Given the description of an element on the screen output the (x, y) to click on. 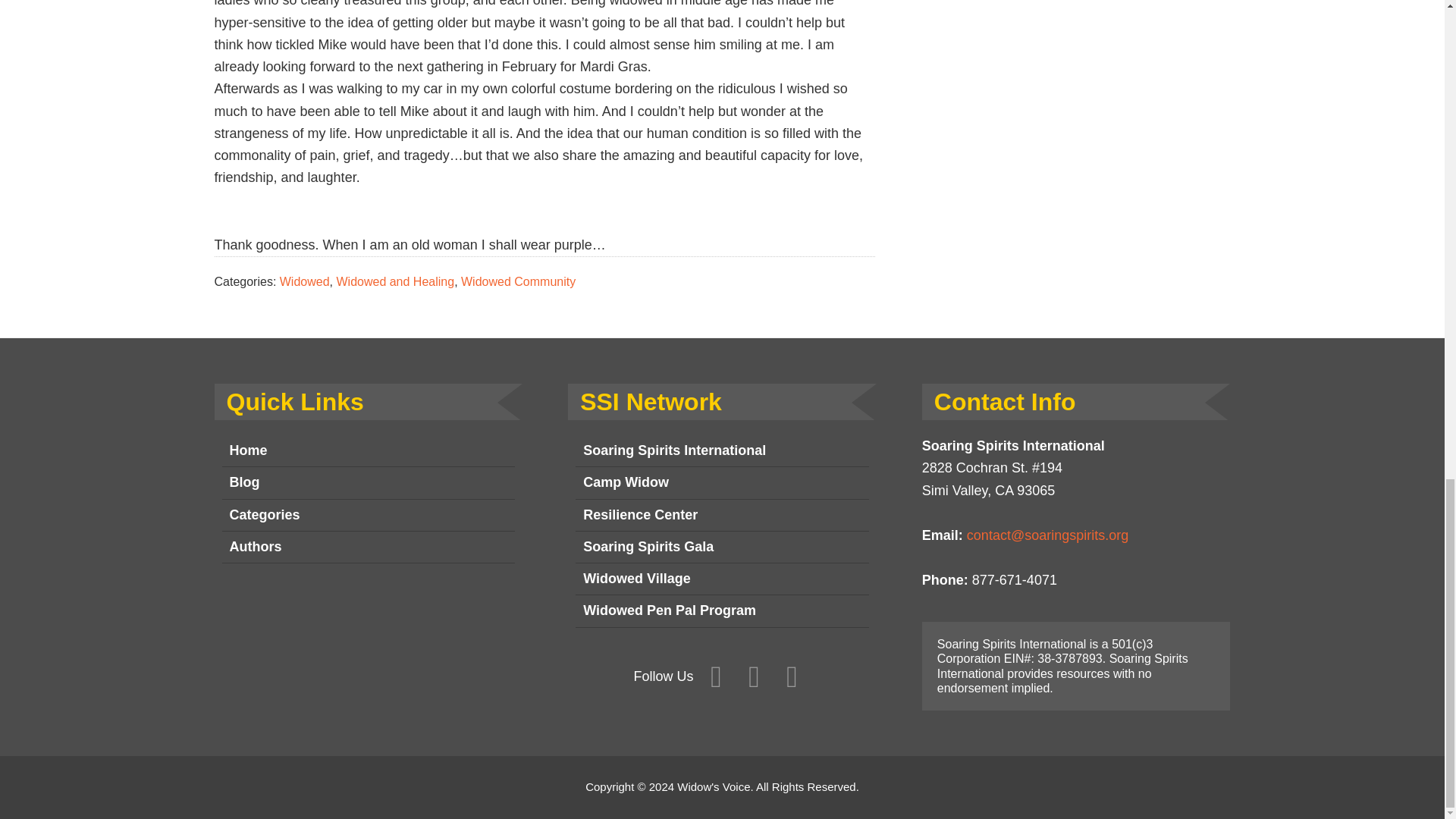
Blog (368, 482)
Widowed Community (518, 281)
Widowed Village (722, 579)
YouTube (791, 677)
Facebook (716, 677)
Camp Widow (722, 482)
Home (368, 450)
Authors (368, 547)
Resilience Center (722, 514)
Categories (368, 514)
Soaring Spirits International (722, 450)
Widowed and Healing (395, 281)
Instagram (754, 677)
Widowed Pen Pal Program (722, 611)
Soaring Spirits Gala (722, 547)
